Given the description of an element on the screen output the (x, y) to click on. 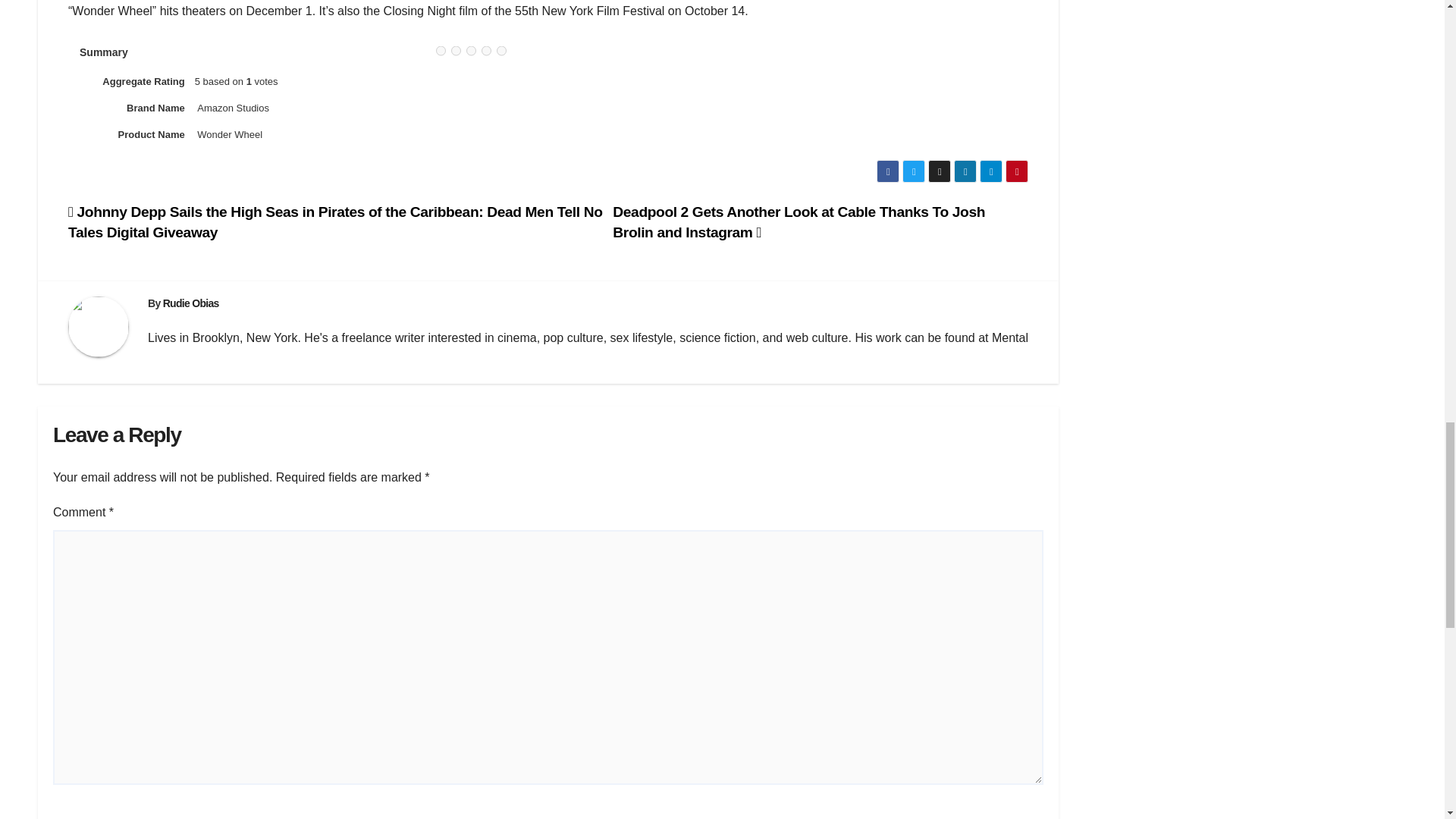
3 (470, 50)
4 (486, 50)
5 (501, 50)
1 (440, 50)
2 (456, 50)
